Given the description of an element on the screen output the (x, y) to click on. 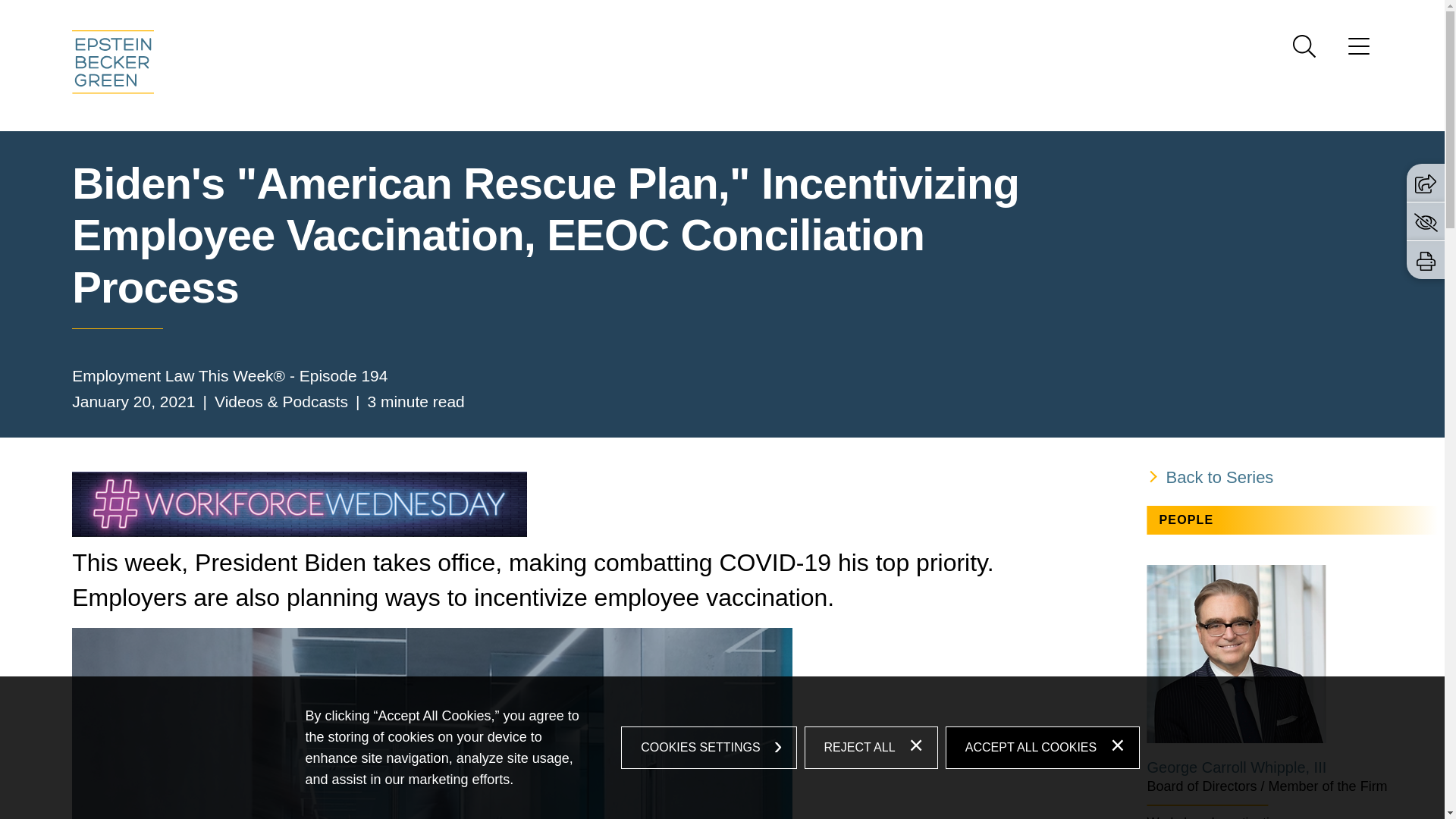
Go to the privacy settings (1425, 221)
Menu (1359, 51)
Main Content (666, 15)
Share (1425, 182)
Share (1425, 183)
Search (1304, 46)
Menu (673, 15)
Print (1425, 261)
Main Menu (673, 15)
